Given the description of an element on the screen output the (x, y) to click on. 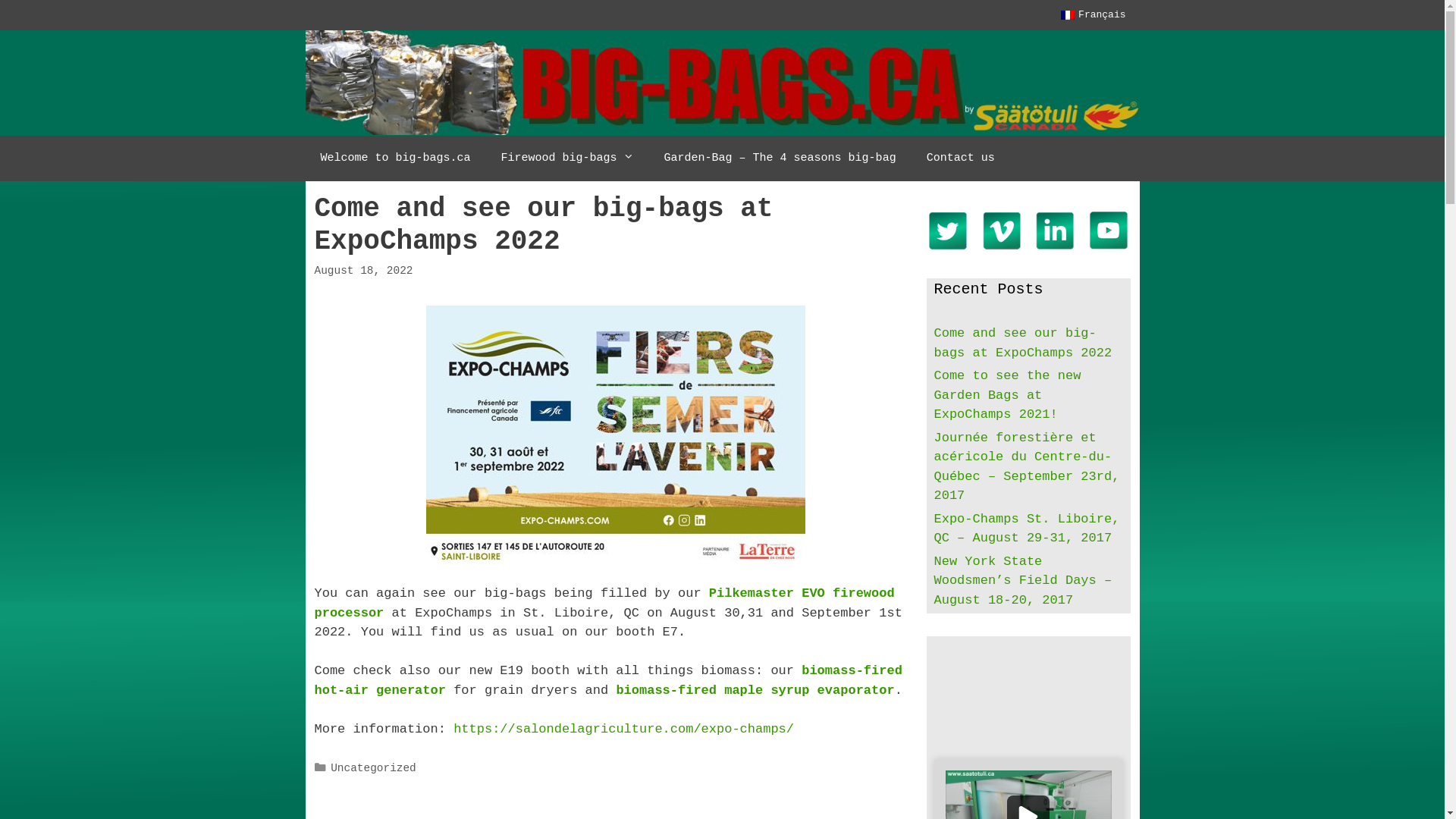
Firewood big-bags Element type: text (567, 158)
Welcome to big-bags.ca Element type: text (394, 158)
biomass-fired hot-air generator Element type: text (607, 680)
biomass-fired maple syrup evaporator Element type: text (754, 690)
Come to see the new Garden Bags at ExpoChamps 2021! Element type: text (1007, 394)
Pilkemaster EVO firewood processor Element type: text (603, 603)
Uncategorized Element type: text (373, 768)
https://salondelagriculture.com/expo-champs/ Element type: text (623, 728)
Contact us Element type: text (960, 158)
Come and see our big-bags at ExpoChamps 2022 Element type: text (1023, 343)
